Given the description of an element on the screen output the (x, y) to click on. 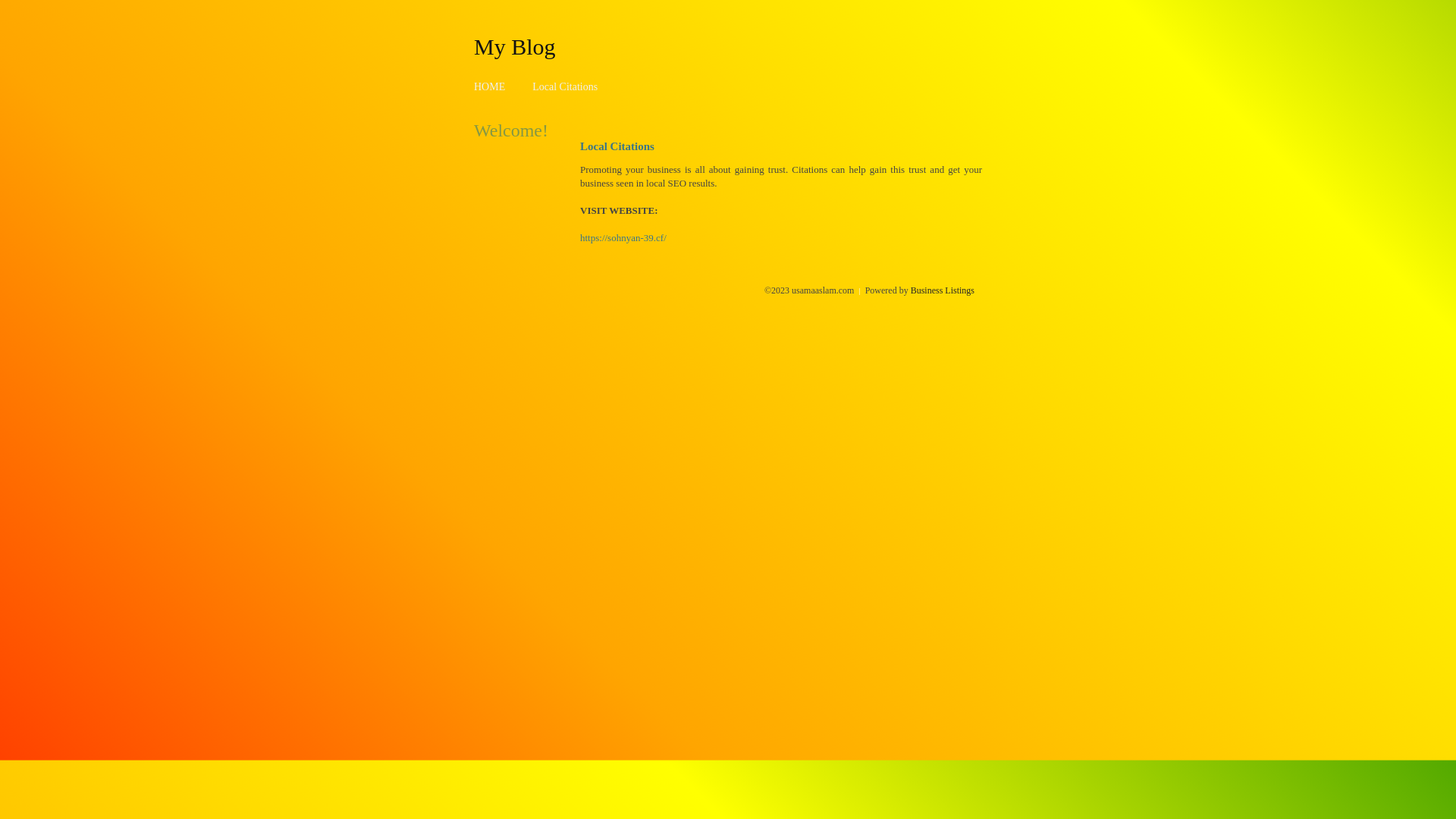
My Blog Element type: text (514, 46)
https://sohnyan-39.cf/ Element type: text (623, 237)
Local Citations Element type: text (564, 86)
Business Listings Element type: text (942, 290)
HOME Element type: text (489, 86)
